Given the description of an element on the screen output the (x, y) to click on. 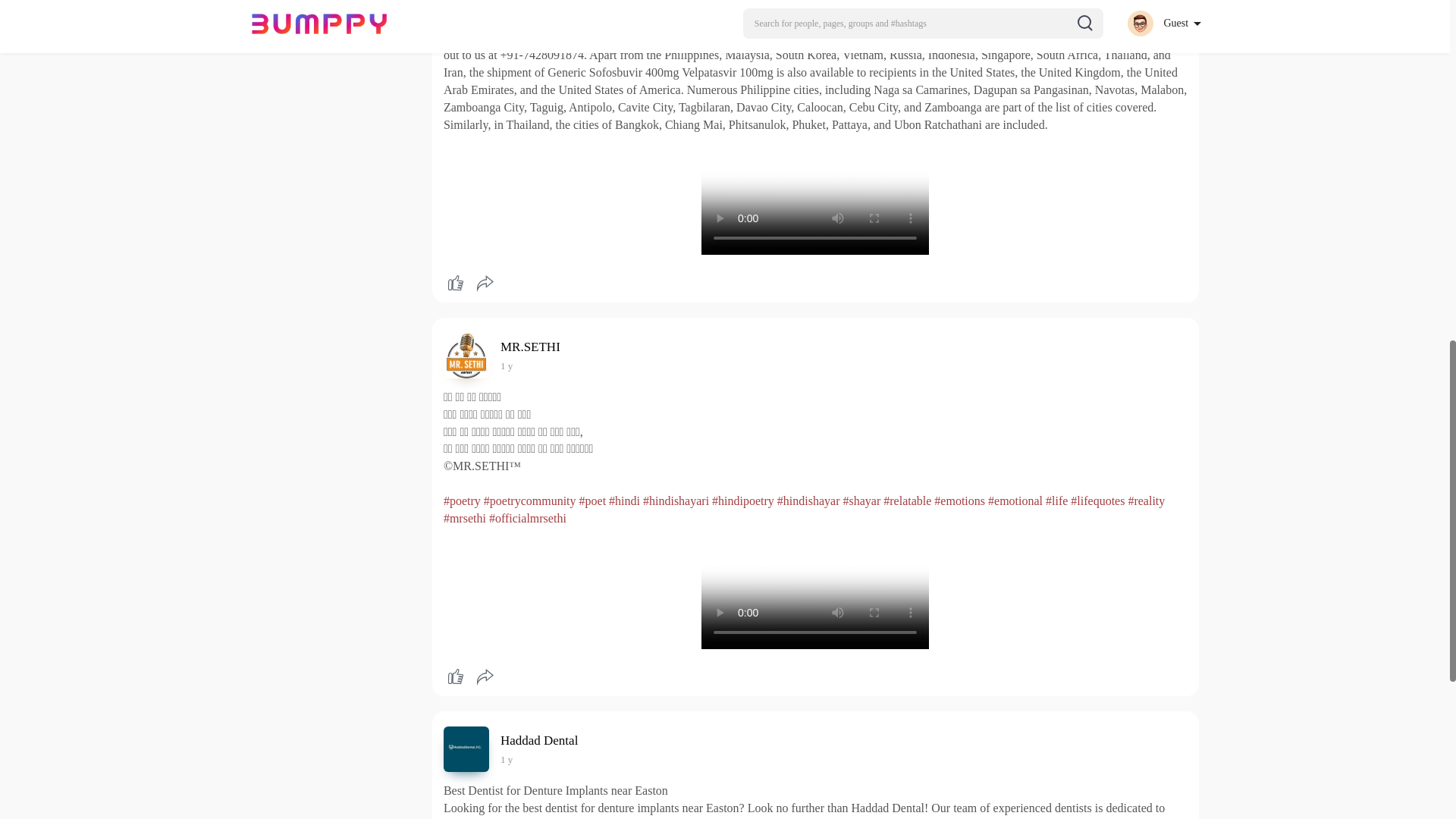
Share (484, 283)
Share (484, 677)
